Given the description of an element on the screen output the (x, y) to click on. 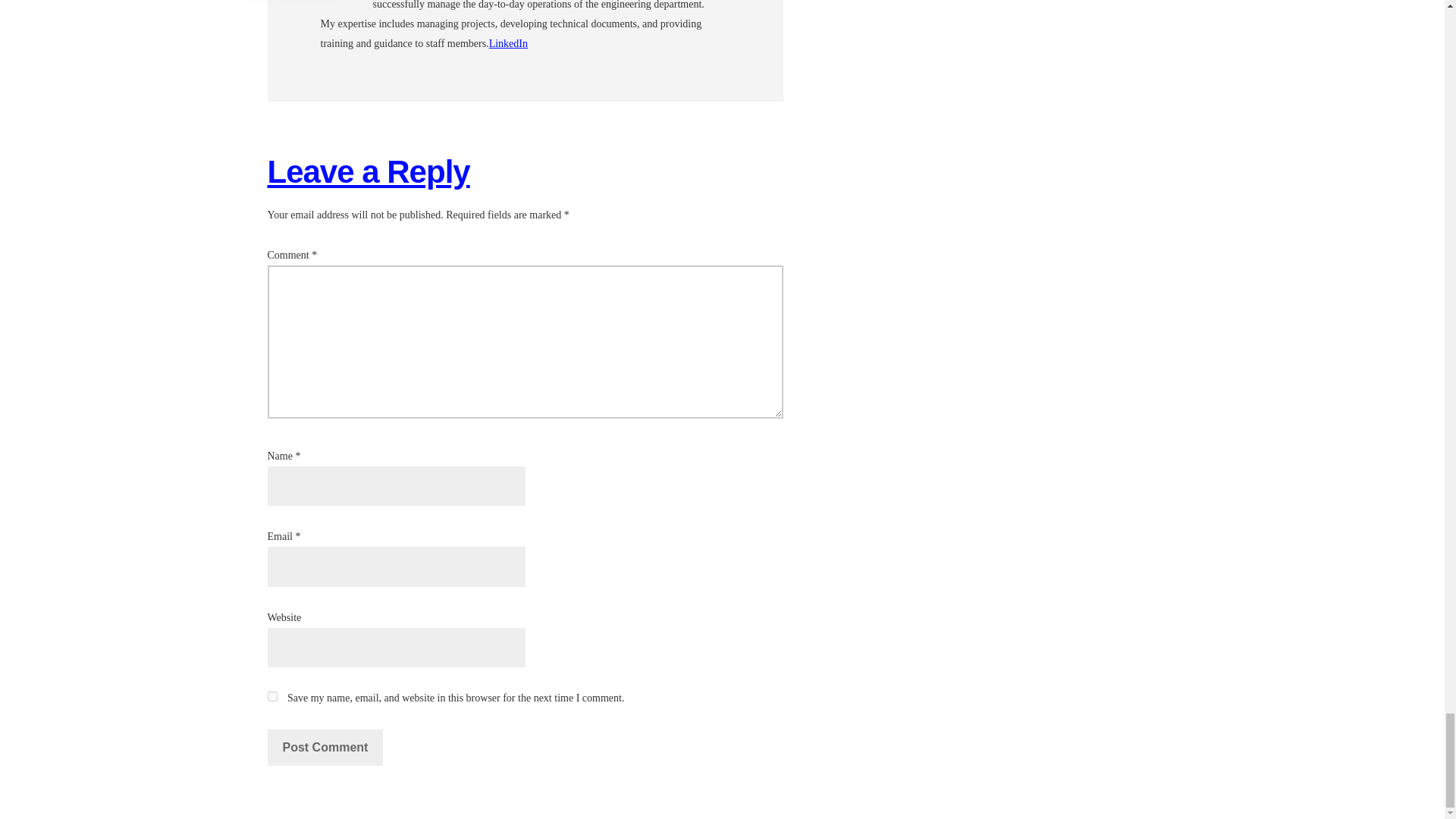
Post Comment (324, 747)
LinkedIn (508, 43)
Leave a Reply (367, 171)
Post Comment (324, 747)
Reader Interactions (352, 188)
yes (271, 696)
